Given the description of an element on the screen output the (x, y) to click on. 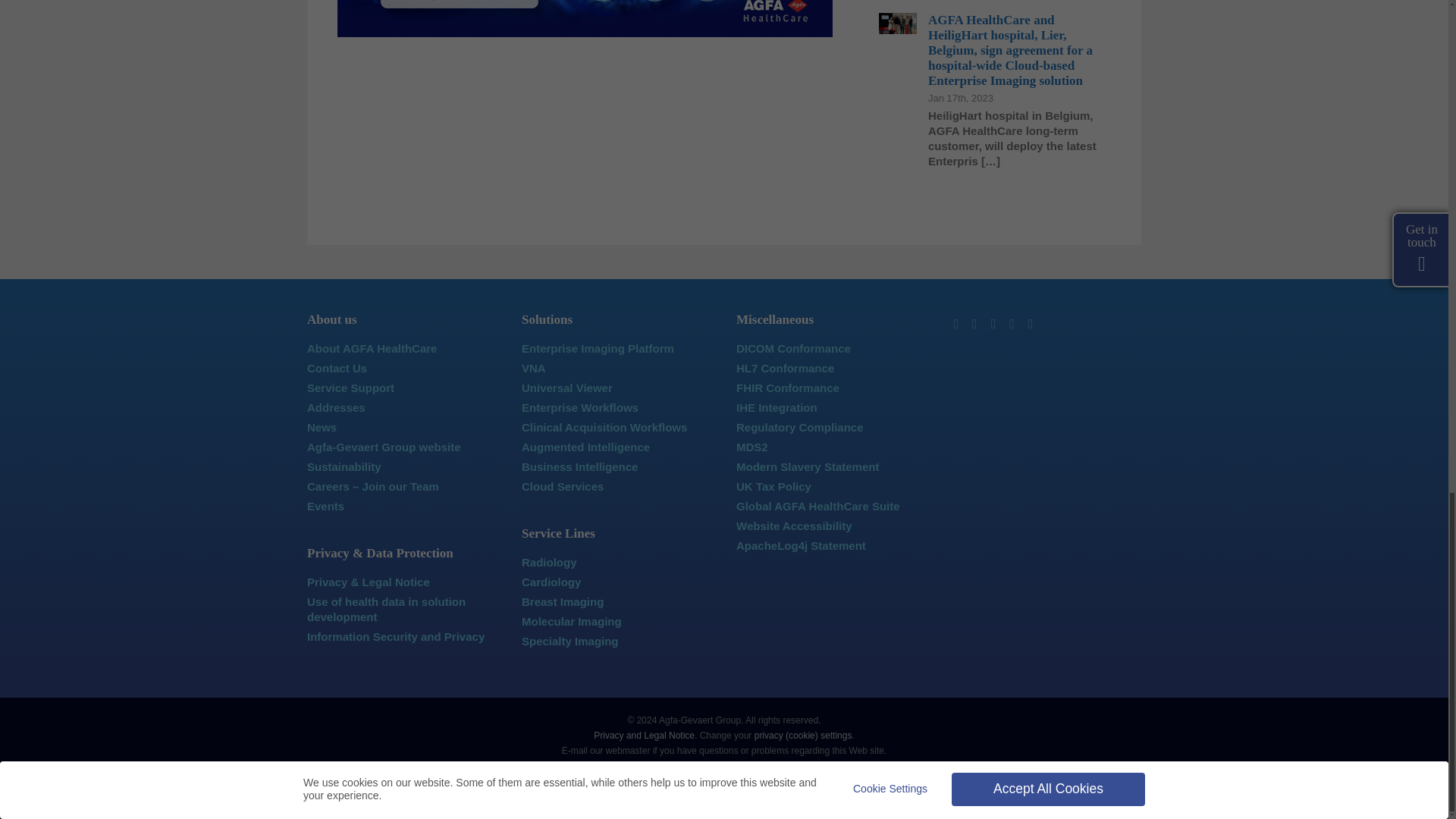
Blog (1031, 323)
Twitter (974, 323)
Instagram (993, 323)
YouTube (1012, 323)
LinkedIn (955, 323)
